Given the description of an element on the screen output the (x, y) to click on. 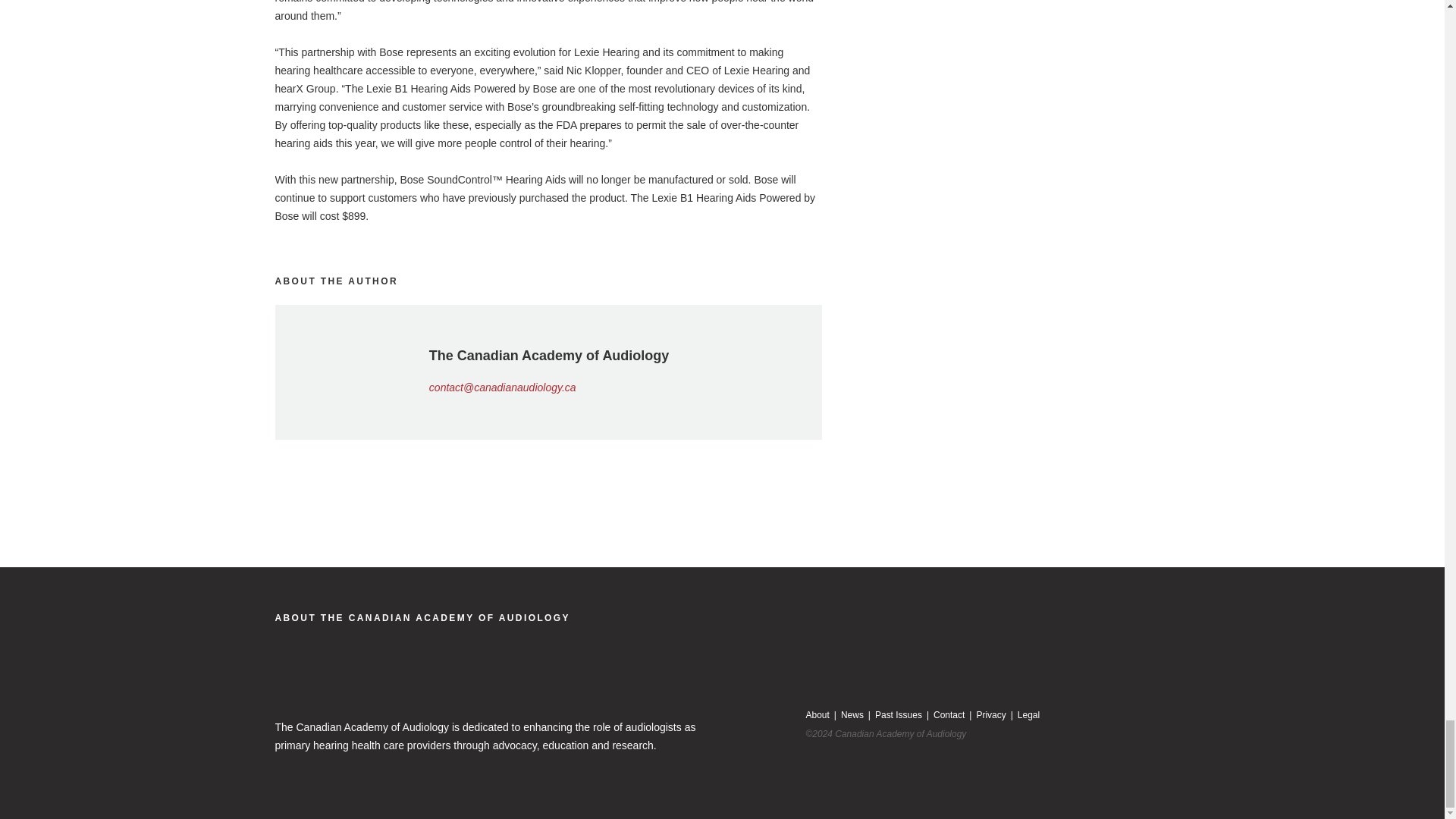
Like Canadian Audiologists on Facebook (846, 670)
The Canadian Academy of Audiology (422, 617)
Canadian Audiologists on LinkedIn (817, 670)
The Canadian Academy of Audiology (379, 681)
Follow Canadian Audiologists on Twitter (874, 670)
